Given the description of an element on the screen output the (x, y) to click on. 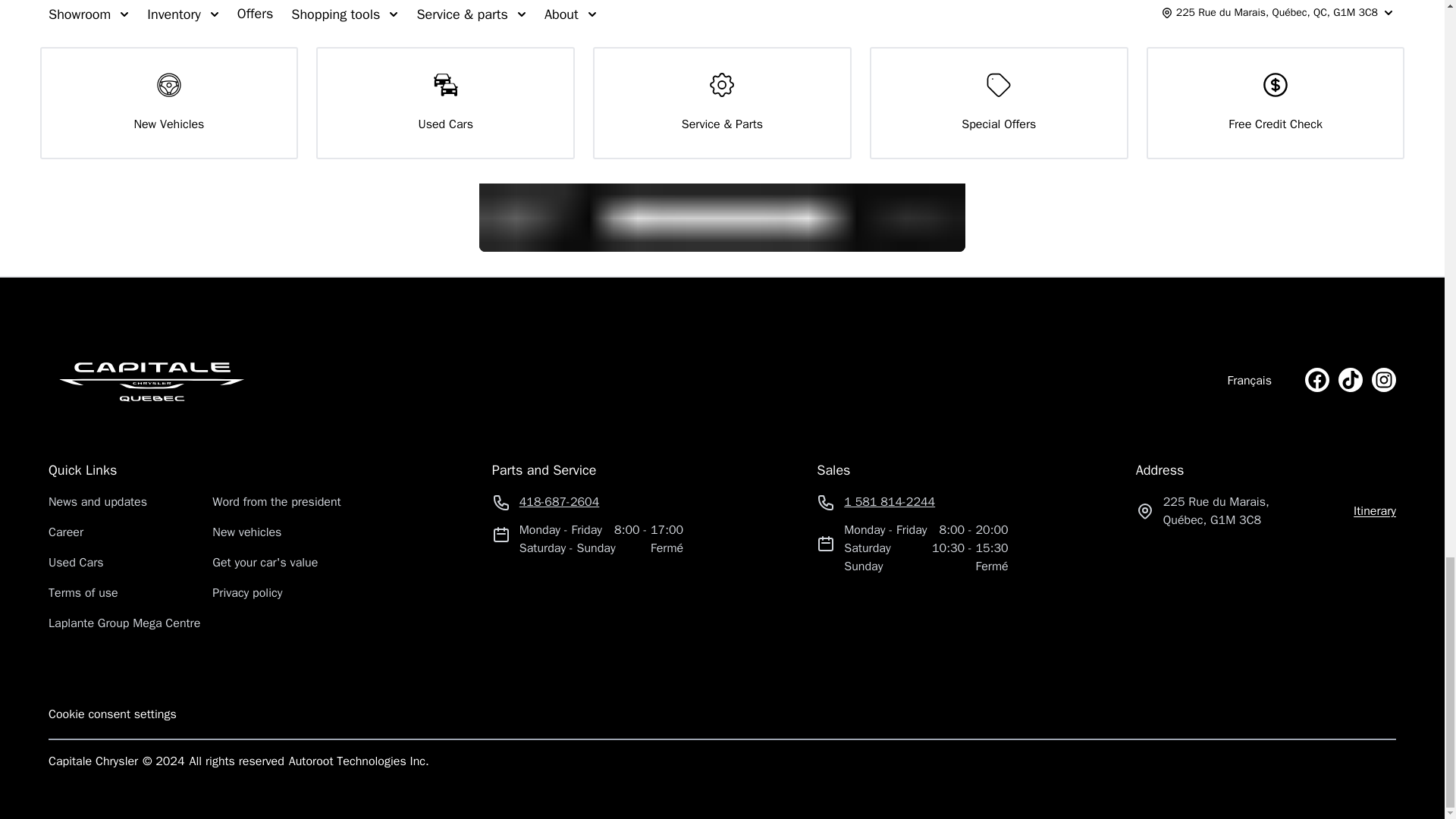
Car dealership website designer (360, 761)
